Given the description of an element on the screen output the (x, y) to click on. 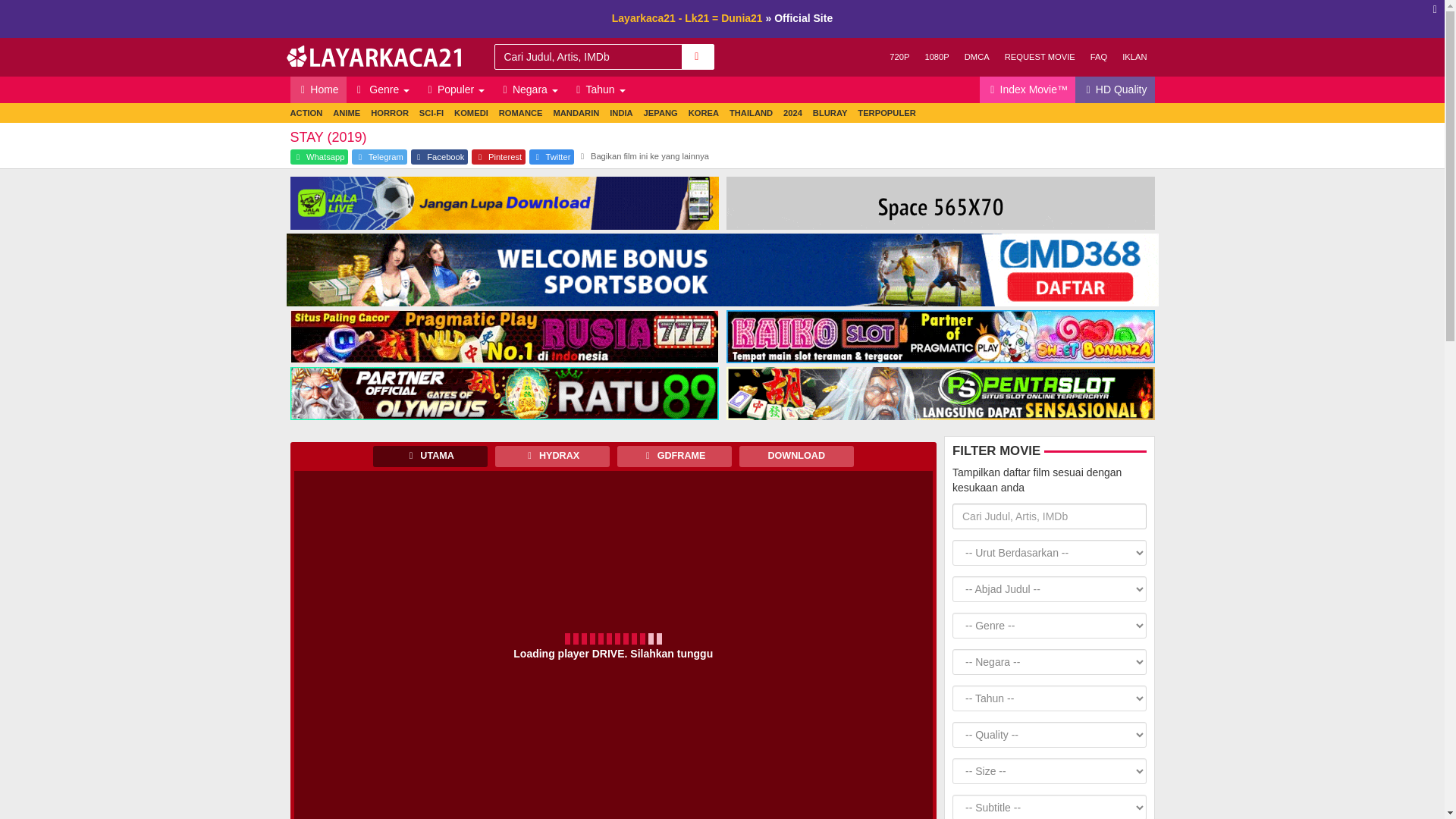
Populer (454, 89)
DMCA (976, 57)
FAQ (1099, 57)
REQUEST MOVIE (1040, 57)
IKLAN (1134, 57)
720P (899, 57)
Genre (381, 89)
1080P (936, 57)
Home (317, 89)
